Given the description of an element on the screen output the (x, y) to click on. 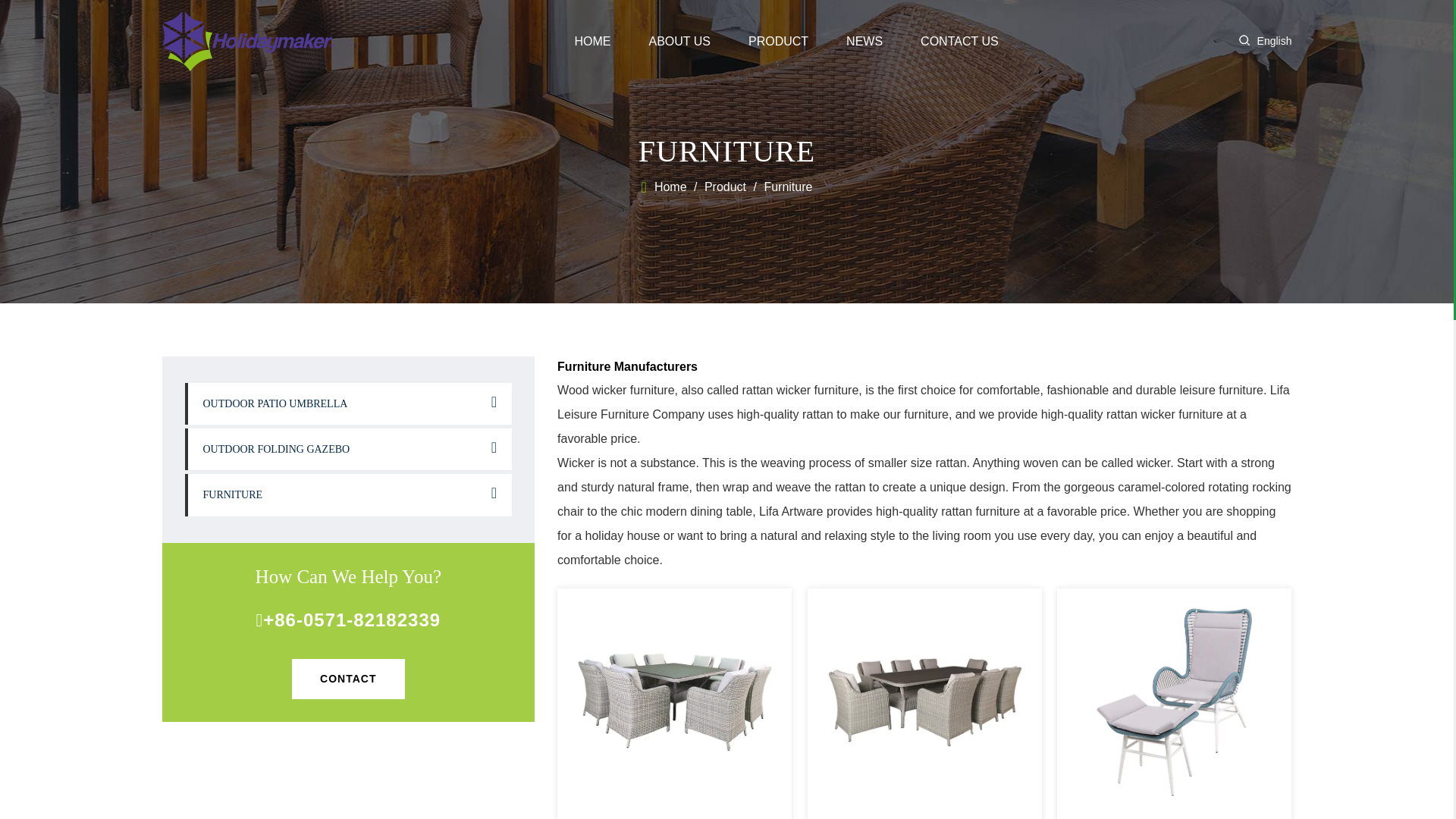
Home (664, 187)
CONTACT US (959, 41)
PRODUCT (778, 41)
Product (724, 187)
English (1274, 40)
ABOUT US (678, 41)
OUTDOOR PATIO UMBRELLA (348, 404)
